Given the description of an element on the screen output the (x, y) to click on. 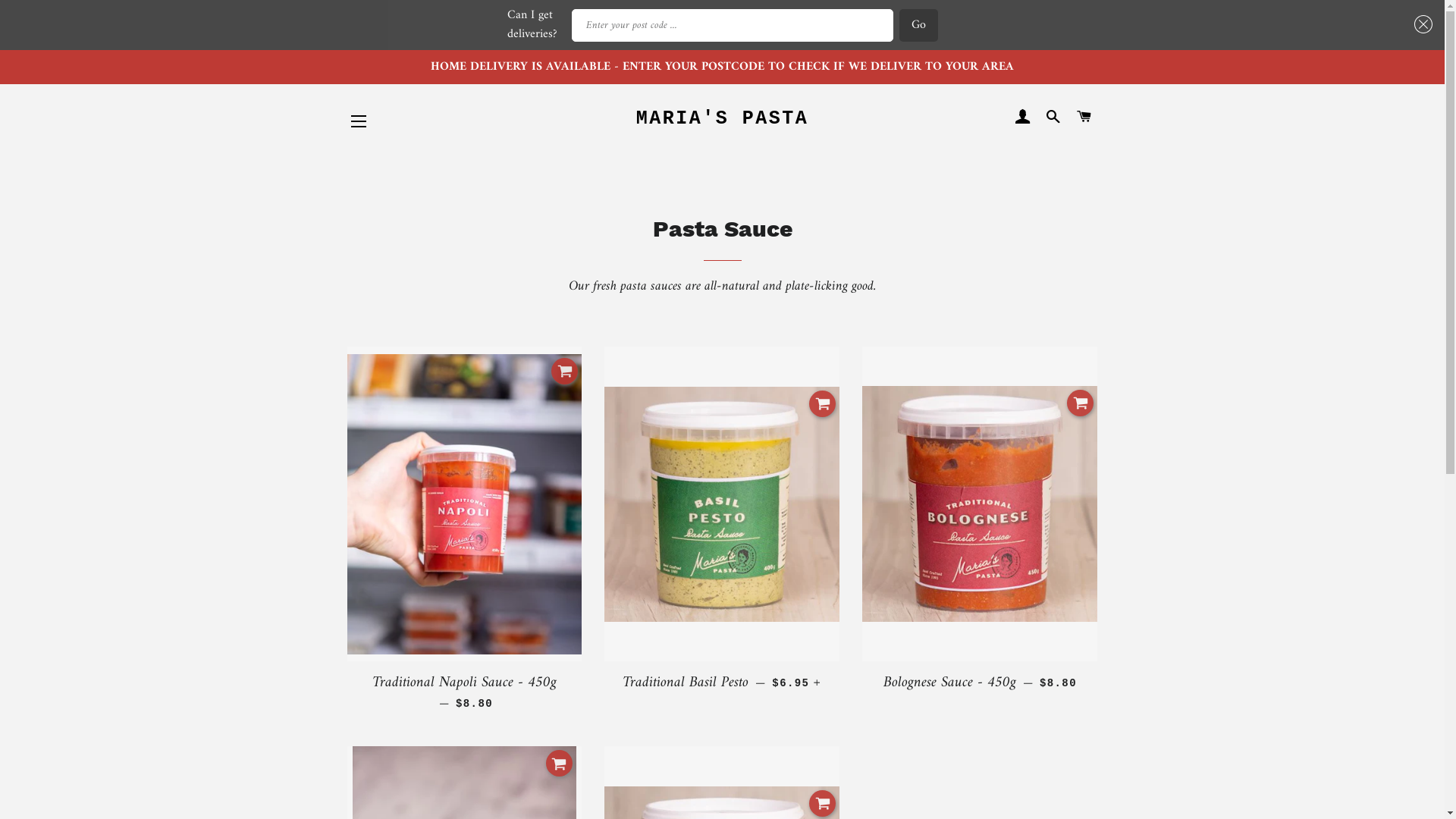
Go Element type: text (918, 25)
SEARCH Element type: text (1053, 118)
MARIA'S PASTA Element type: text (721, 118)
SITE NAVIGATION Element type: text (358, 121)
CART Element type: text (1083, 118)
LOG IN Element type: text (1022, 118)
